Given the description of an element on the screen output the (x, y) to click on. 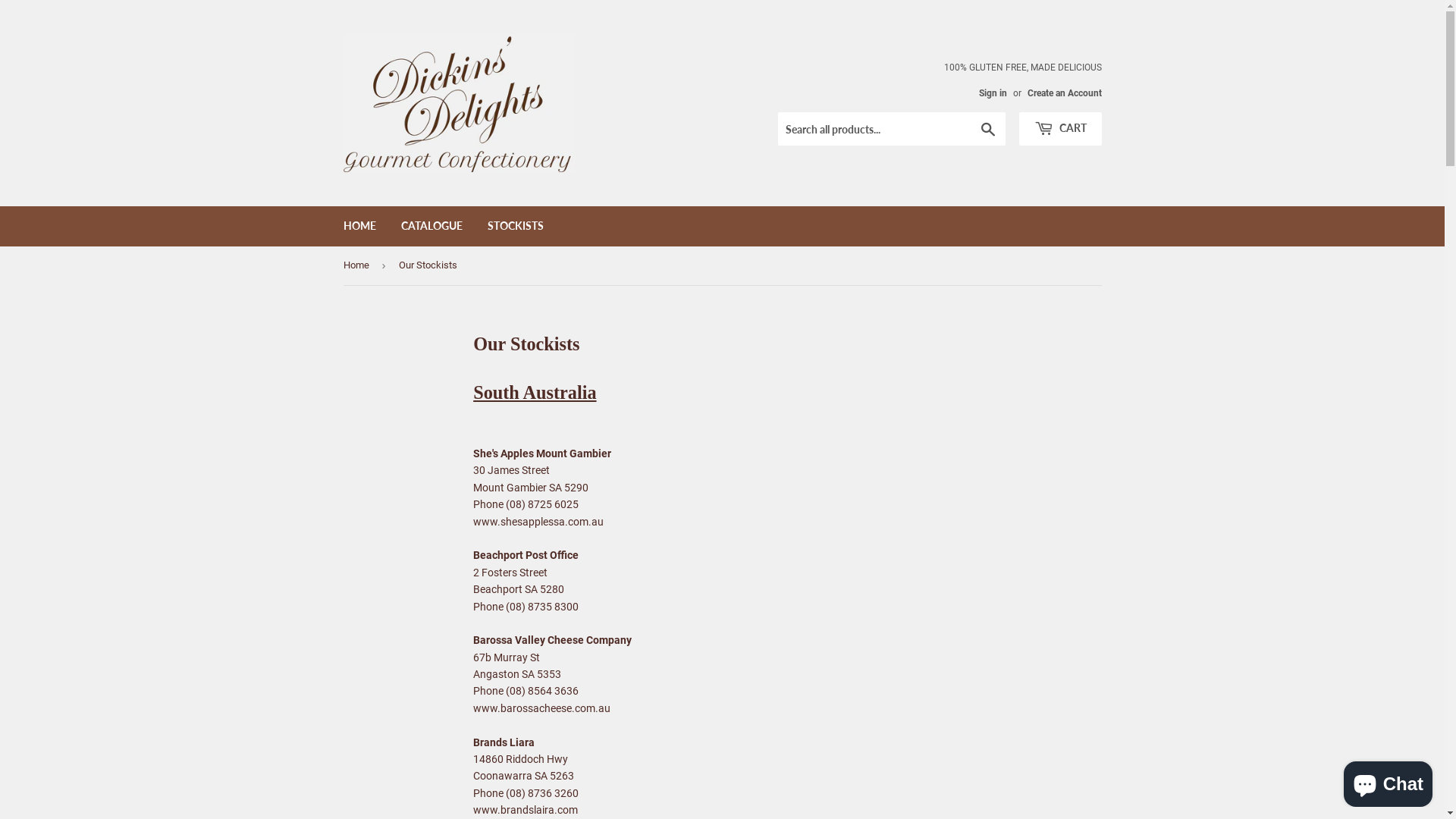
STOCKISTS Element type: text (515, 225)
www.brandslaira.com Element type: text (525, 809)
www.barossacheese.com.au Element type: text (541, 708)
HOME Element type: text (359, 225)
Sign in Element type: text (992, 92)
Home Element type: text (357, 265)
Shopify online store chat Element type: hover (1388, 780)
CATALOGUE Element type: text (431, 225)
CART Element type: text (1060, 128)
www.shesapplessa.com.au Element type: text (538, 521)
Create an Account Element type: text (1063, 92)
Search Element type: text (987, 129)
